Given the description of an element on the screen output the (x, y) to click on. 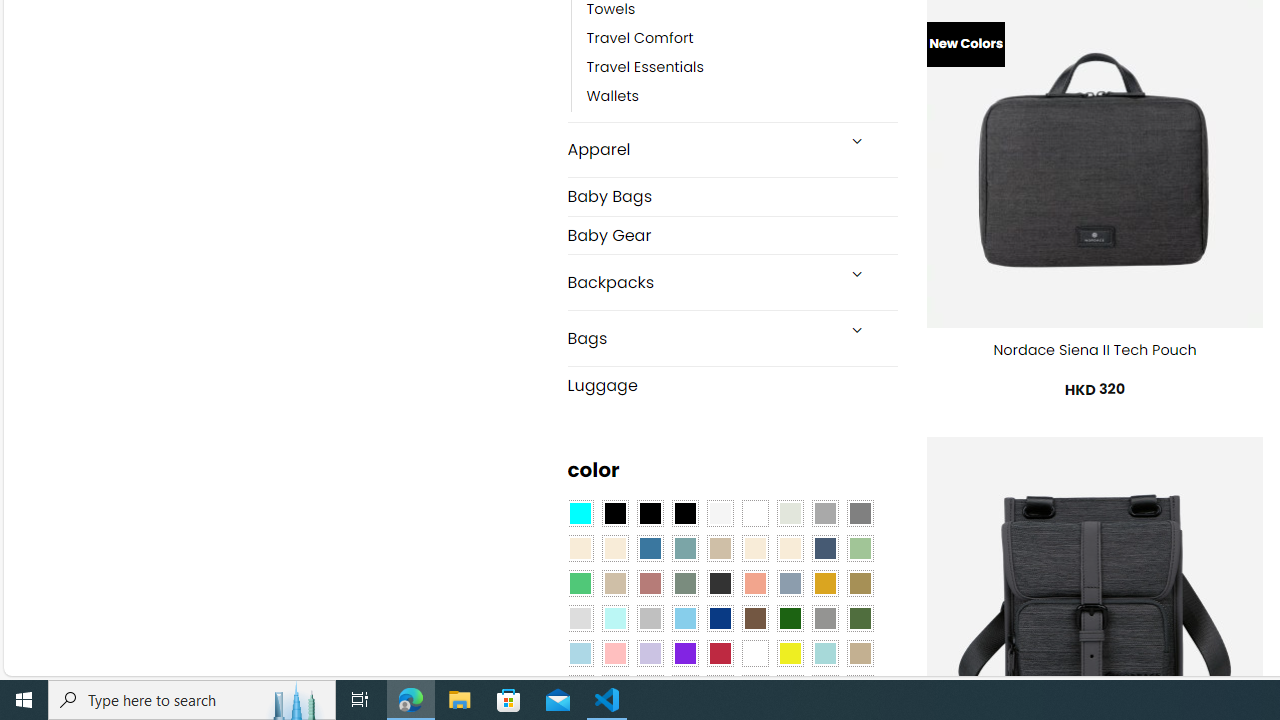
Silver (650, 619)
All Black (614, 514)
Light Purple (650, 653)
Black (650, 514)
Pearly White (719, 514)
